Given the description of an element on the screen output the (x, y) to click on. 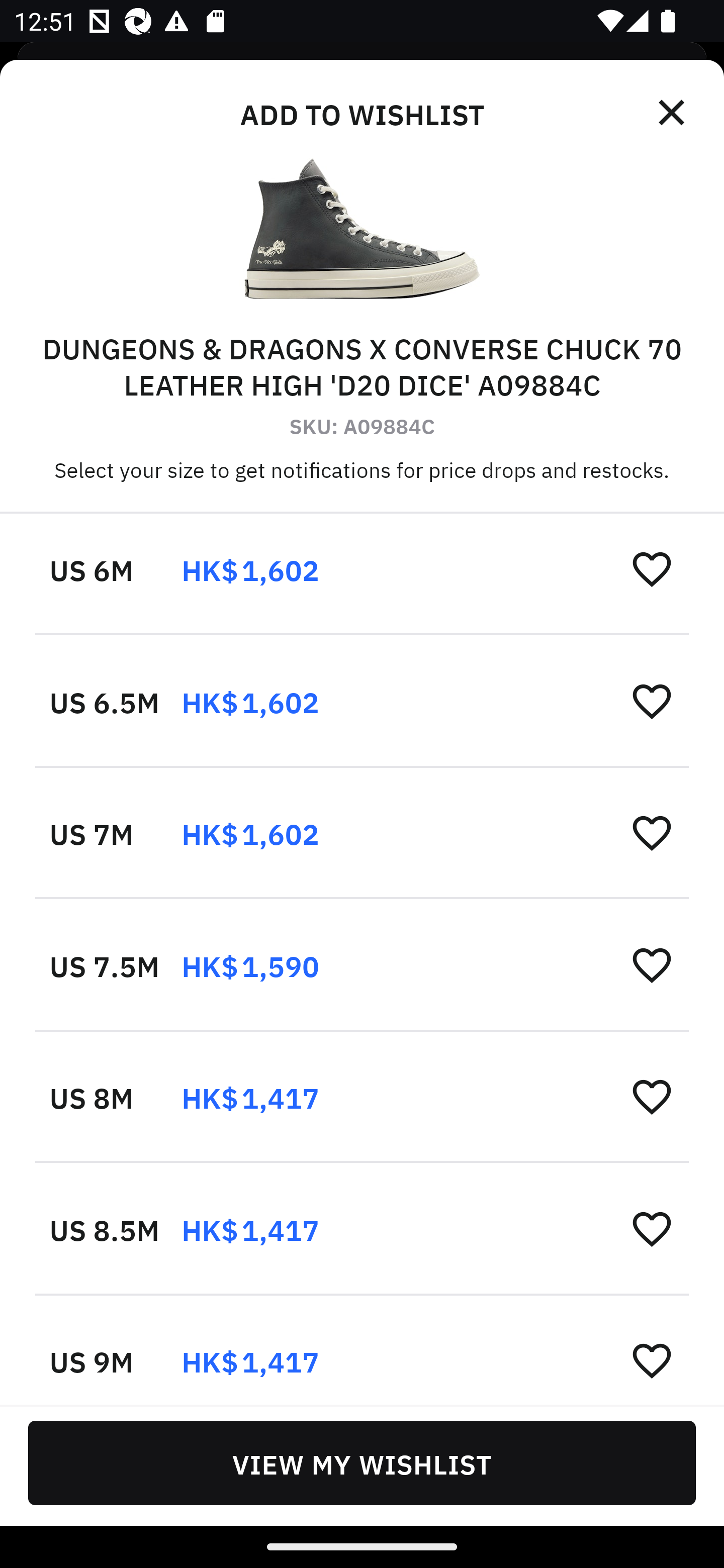
 (672, 112)
󰋕 (651, 568)
󰋕 (651, 700)
󰋕 (651, 832)
󰋕 (651, 964)
󰋕 (651, 1096)
󰋕 (651, 1228)
󰋕 (651, 1359)
VIEW MY WISHLIST (361, 1462)
